Given the description of an element on the screen output the (x, y) to click on. 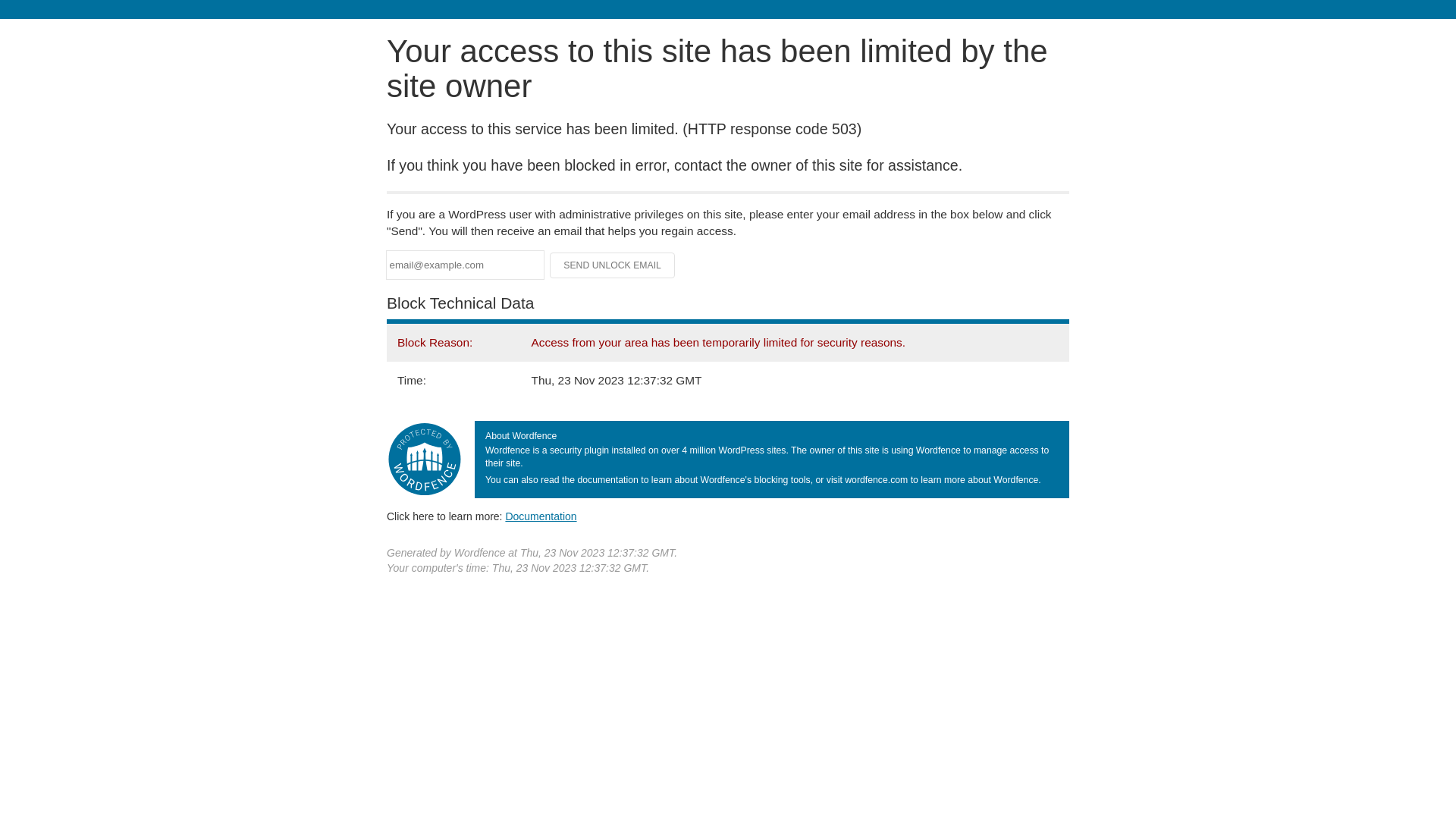
Send Unlock Email Element type: text (612, 265)
Documentation Element type: text (540, 516)
